Given the description of an element on the screen output the (x, y) to click on. 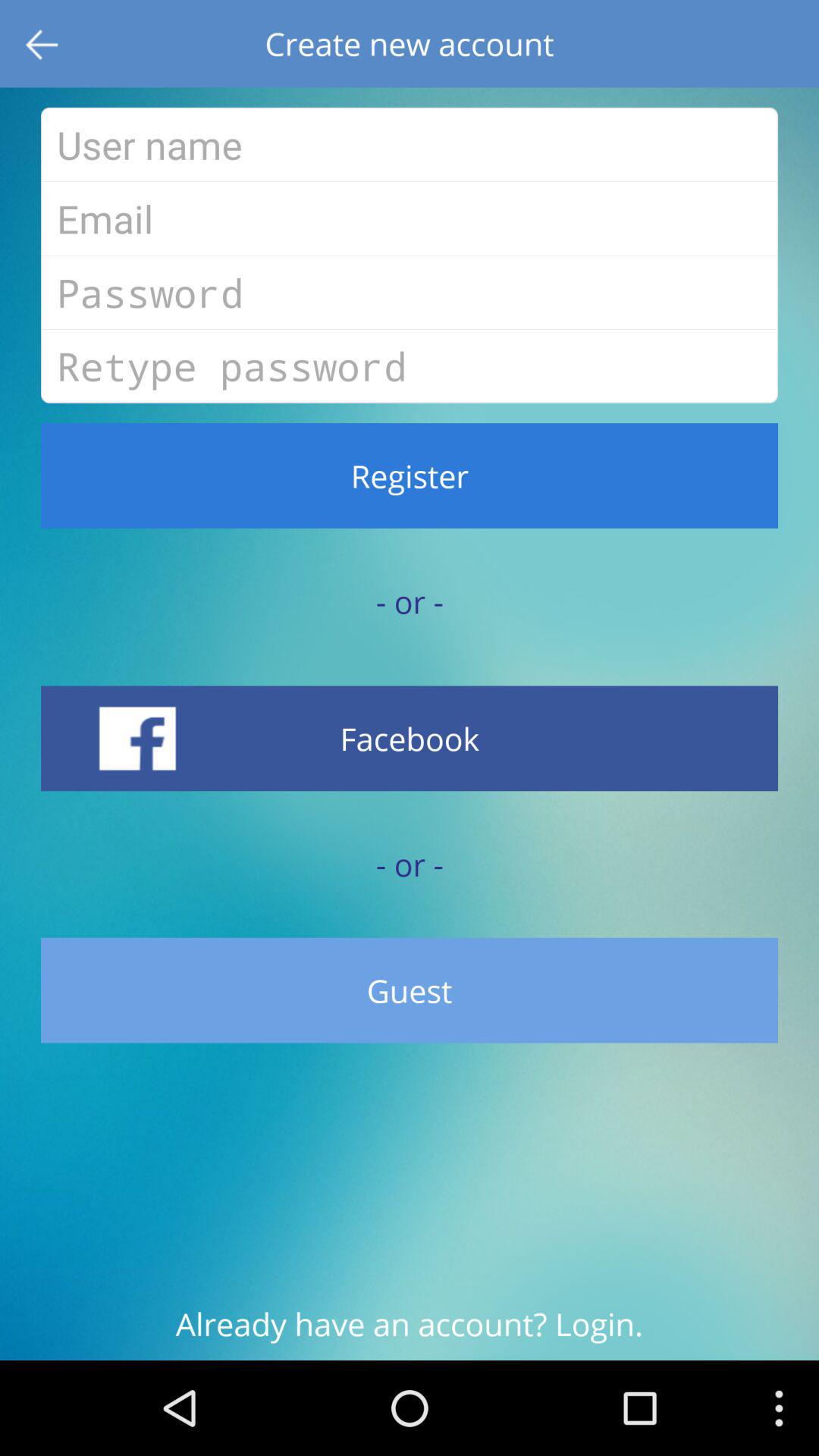
type in your email (409, 218)
